Given the description of an element on the screen output the (x, y) to click on. 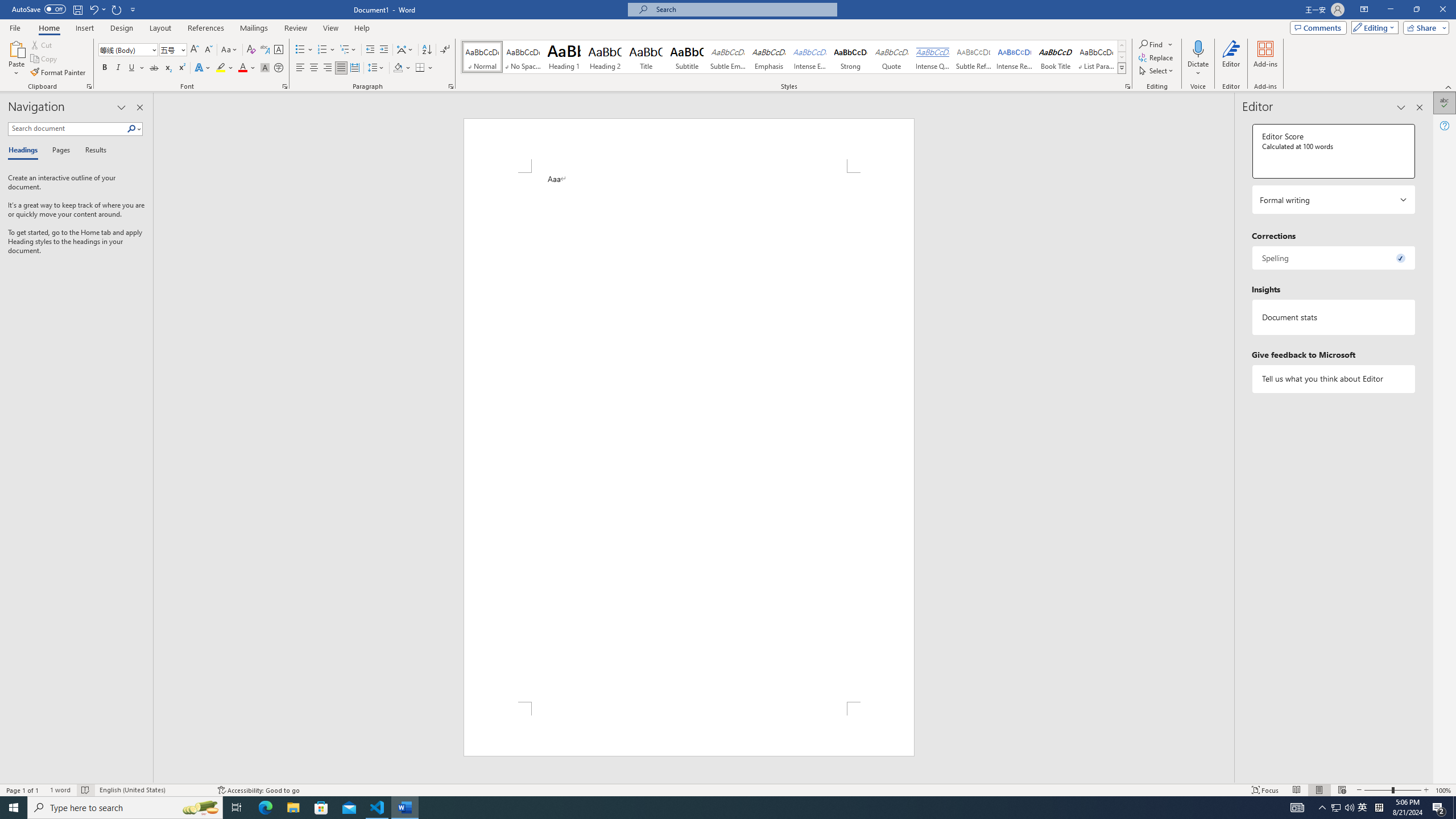
Undo Increase Indent (92, 9)
Cut (42, 44)
Asian Layout (405, 49)
Styles (1121, 67)
Font Color Red (241, 67)
Repeat Increase Indent (117, 9)
Strikethrough (154, 67)
Subtitle (686, 56)
Row up (1121, 45)
Zoom (1392, 790)
Distributed (354, 67)
